Given the description of an element on the screen output the (x, y) to click on. 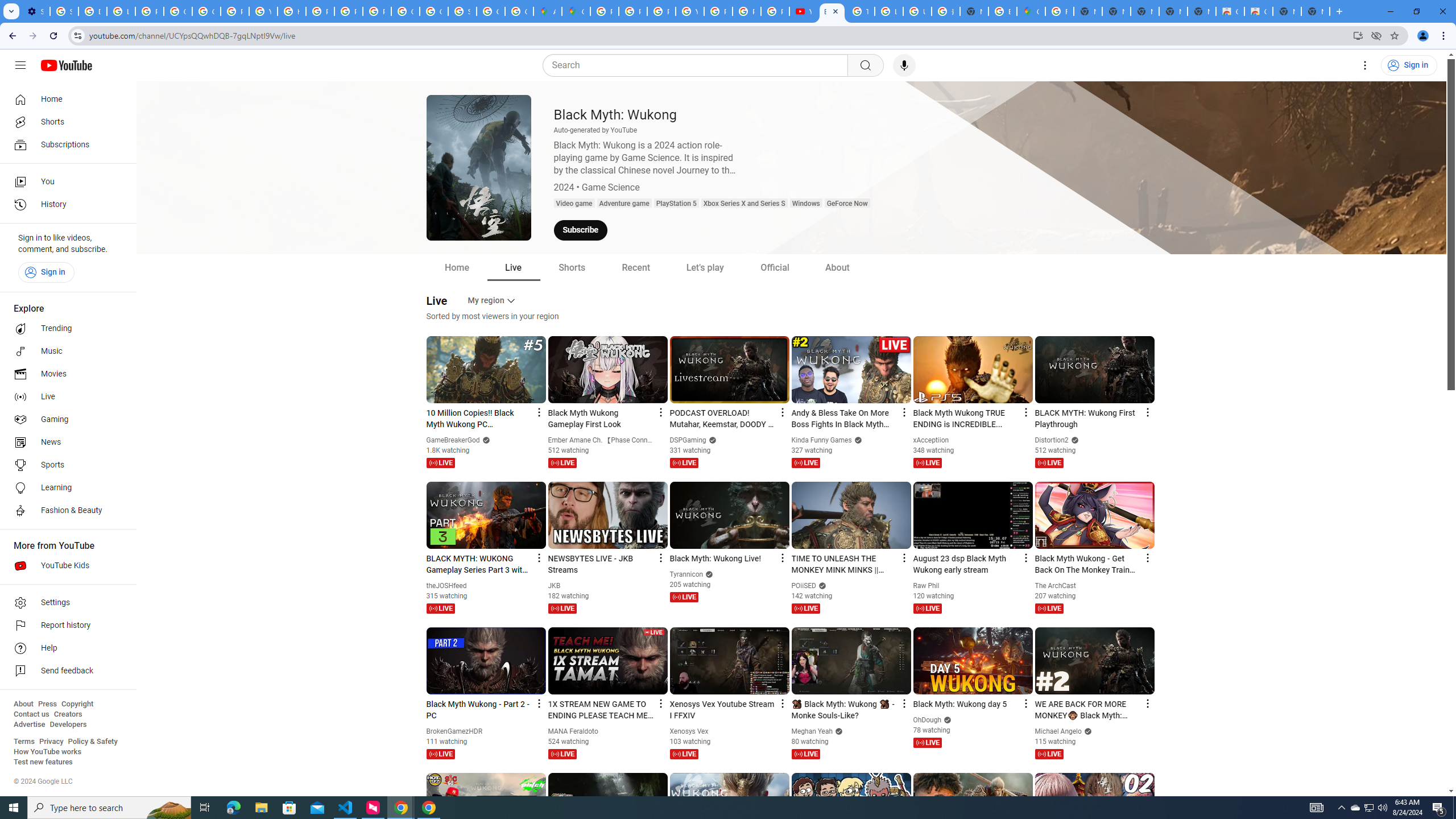
Shorts (571, 266)
NEWSBYTES LIVE - JKB Streams by JKB 581 views (600, 564)
Xenosys Vex (689, 731)
Raw Phil (926, 585)
History (64, 204)
Let's play (705, 266)
Explore new street-level details - Google Maps Help (1002, 11)
